Given the description of an element on the screen output the (x, y) to click on. 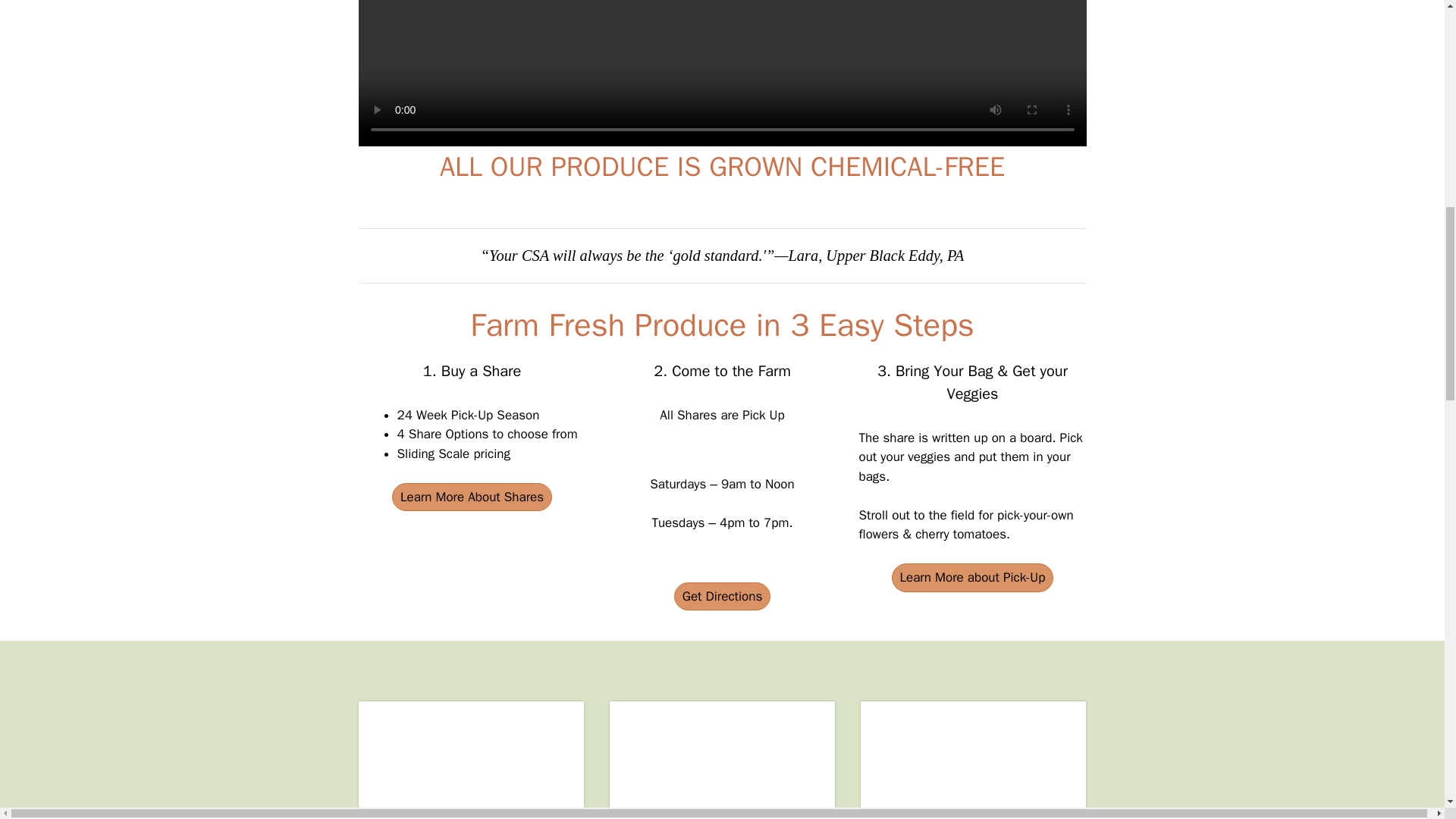
Learn More about Pick-Up (972, 577)
Learn More About Shares (471, 497)
Get Directions (722, 596)
ALL OUR PRODUCE IS GROWN CHEMICAL-FREE (721, 166)
Farm Fresh Produce in 3 Easy Steps (722, 324)
